Given the description of an element on the screen output the (x, y) to click on. 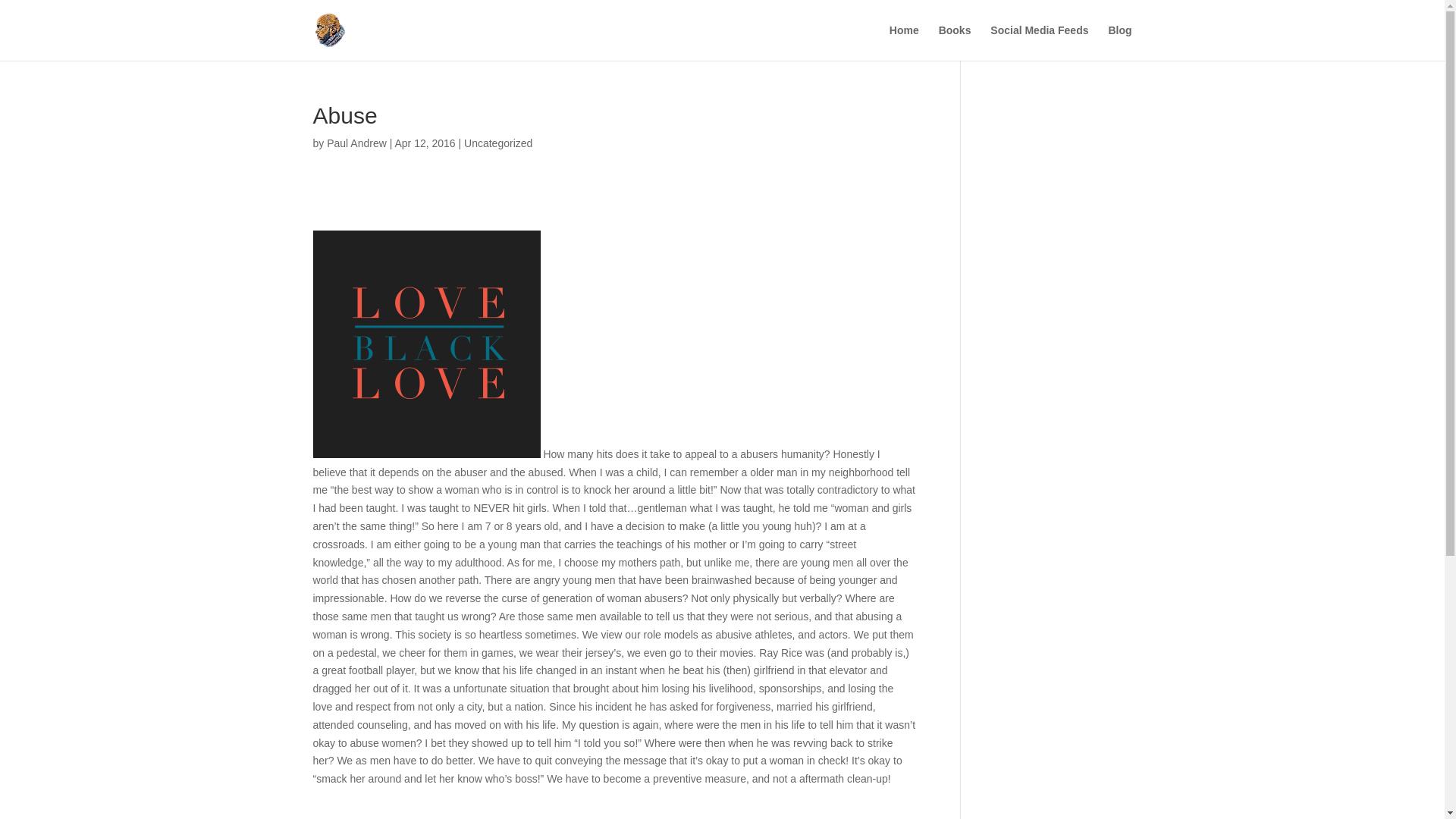
Books (955, 42)
Paul Andrew (356, 143)
Social Media Feeds (1038, 42)
Posts by Paul Andrew (356, 143)
Uncategorized (498, 143)
